Given the description of an element on the screen output the (x, y) to click on. 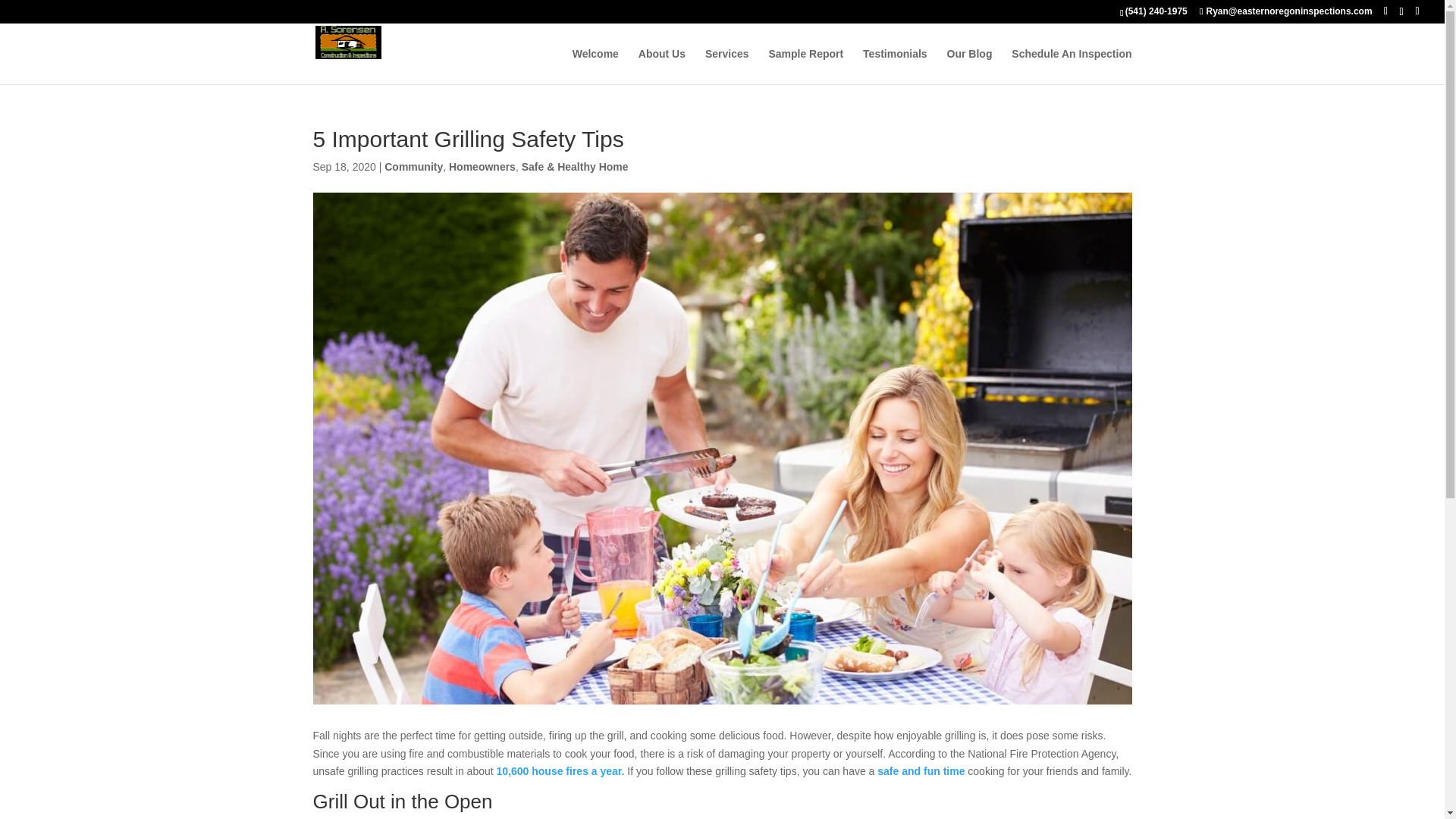
Services (726, 66)
About Us (662, 66)
Welcome (595, 66)
Schedule An Inspection (1071, 66)
safe and fun time (920, 770)
Community (413, 166)
Our Blog (969, 66)
Testimonials (895, 66)
Homeowners (481, 166)
10,600 house fires a year. (560, 770)
Sample Report (805, 66)
